Given the description of an element on the screen output the (x, y) to click on. 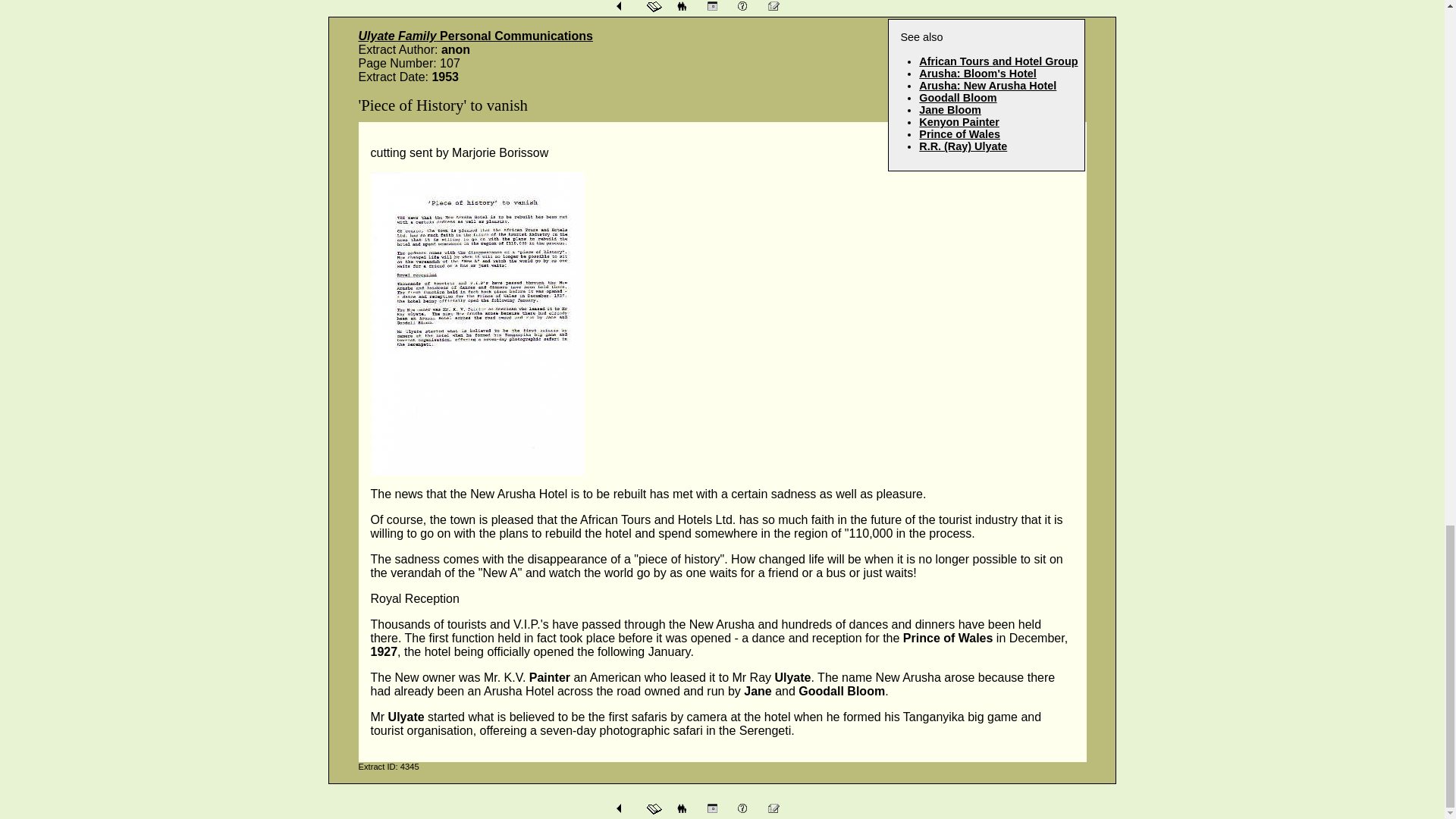
1953 (997, 61)
Jane Bloom (949, 110)
1928 (949, 110)
Arusha: New Arusha Hotel (987, 85)
1928 (956, 97)
1928, Jan (987, 85)
Kenyon Painter (958, 121)
Arusha: Bloom's Hotel (977, 73)
Goodall Bloom (956, 97)
African Tours and Hotel Group (997, 61)
